Given the description of an element on the screen output the (x, y) to click on. 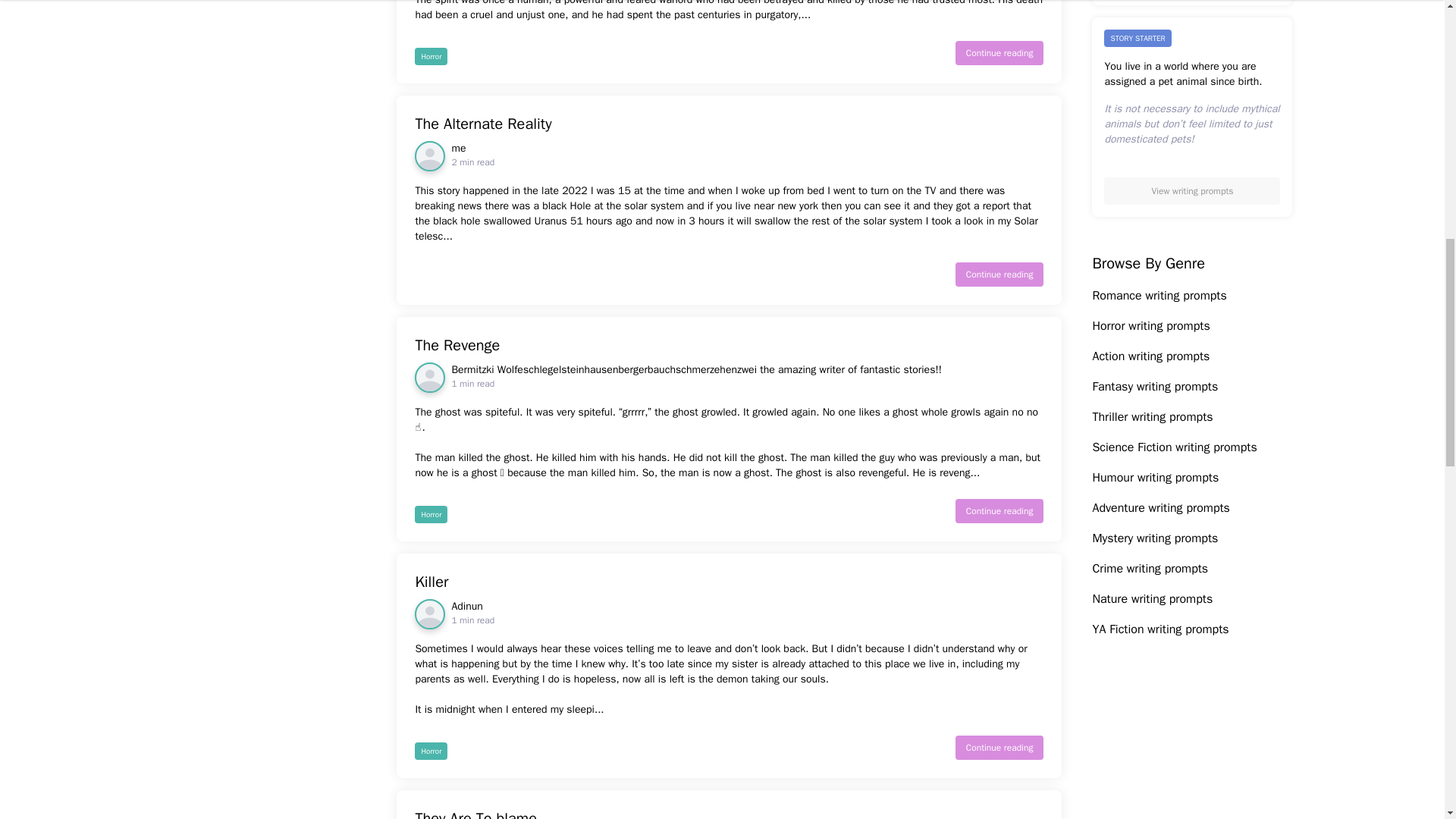
Horror (430, 514)
The Alternate Reality (473, 155)
Killer (728, 124)
Horror (728, 581)
Horror (430, 56)
Continue reading (430, 751)
Continue reading (999, 52)
The Revenge (999, 747)
Continue reading (728, 345)
Continue reading (999, 274)
